Given the description of an element on the screen output the (x, y) to click on. 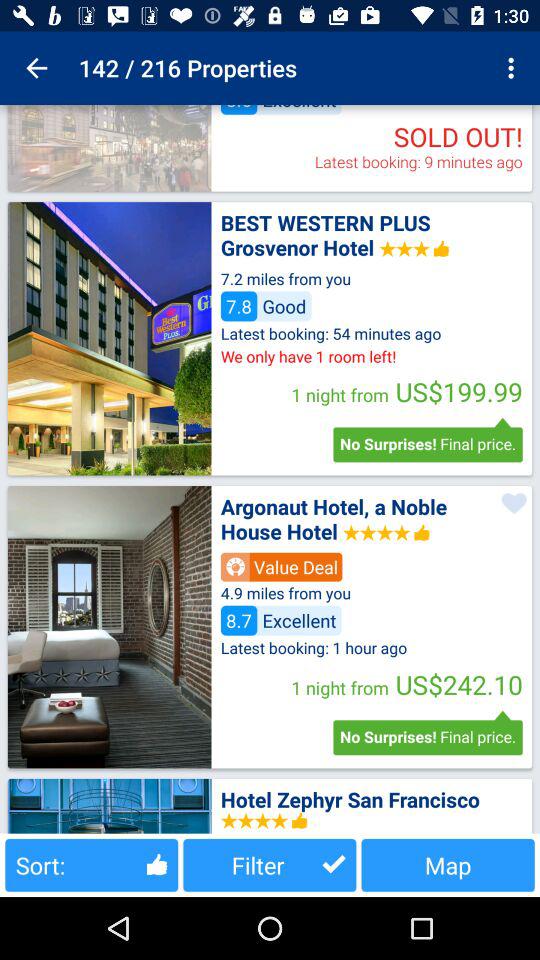
launch the icon below the hotel zephyr san (447, 864)
